Given the description of an element on the screen output the (x, y) to click on. 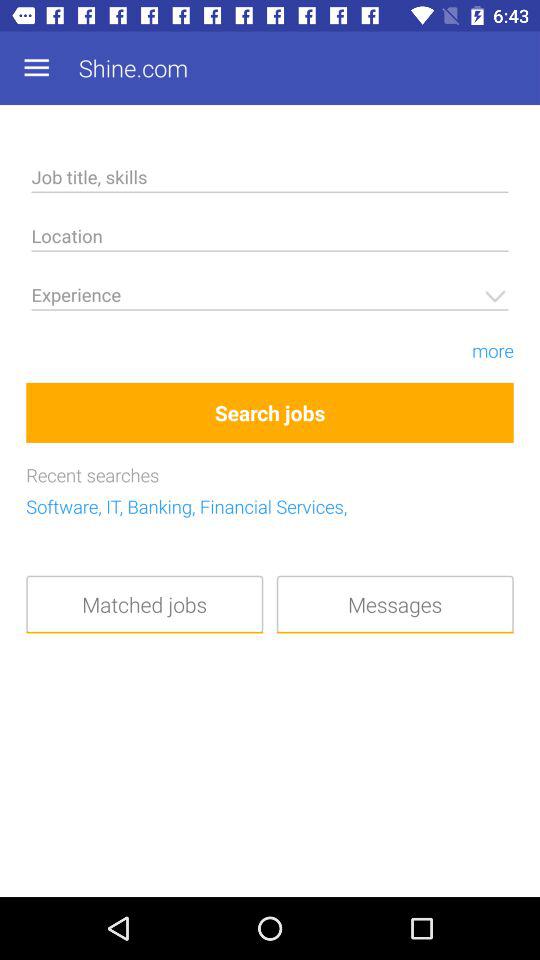
select experience (269, 298)
